Given the description of an element on the screen output the (x, y) to click on. 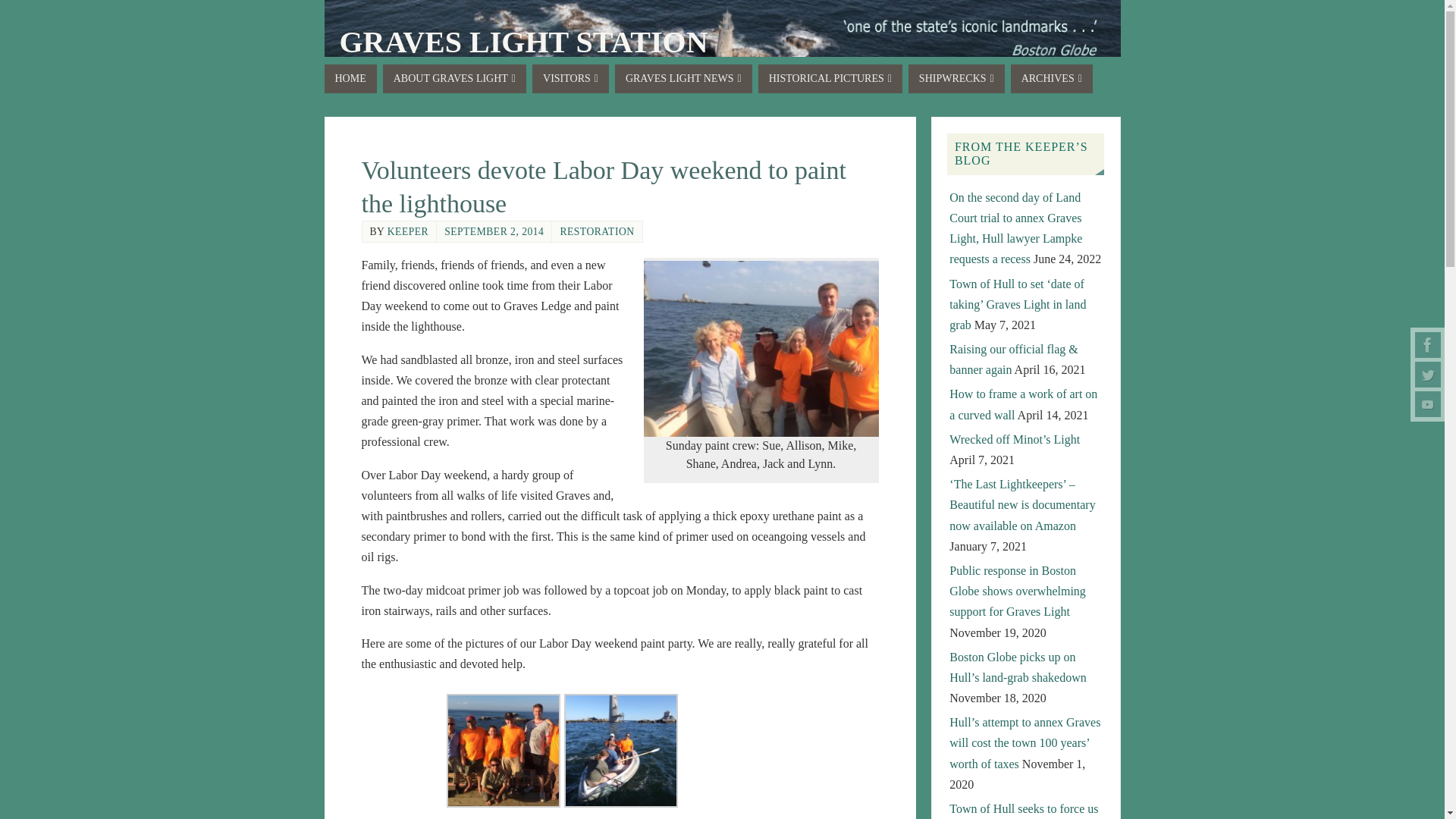
Graves  Light  Station (523, 42)
Graves  Light  Station (722, 45)
GRAVES LIGHT NEWS (683, 78)
ABOUT GRAVES LIGHT (453, 78)
GRAVES LIGHT STATION (523, 42)
Graves Light YouTube channel (1428, 403)
VISITORS (570, 78)
HOME (350, 78)
Graves Light Twitter page (1428, 374)
View all posts by Keeper (407, 231)
Graves Light Facebook page (1428, 344)
